Given the description of an element on the screen output the (x, y) to click on. 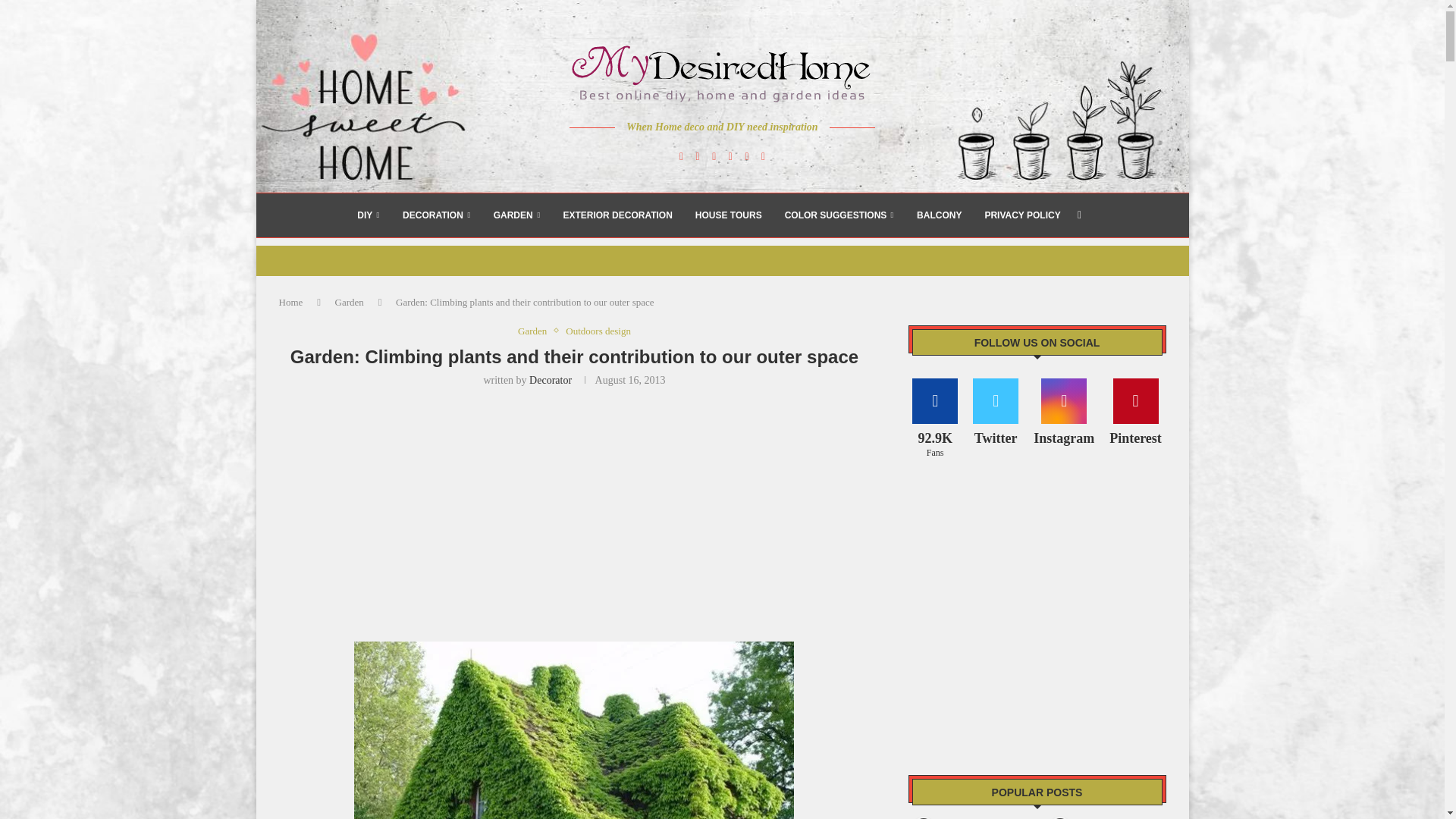
BALCONY (938, 215)
Outdoors design (598, 331)
HOUSE TOURS (728, 215)
Garden (349, 301)
COLOR SUGGESTIONS (838, 215)
DECORATION (436, 215)
Decorator (550, 379)
PRIVACY POLICY (1021, 215)
Garden (536, 331)
GARDEN (516, 215)
Home (290, 301)
DIY (368, 215)
EXTERIOR DECORATION (616, 215)
